Given the description of an element on the screen output the (x, y) to click on. 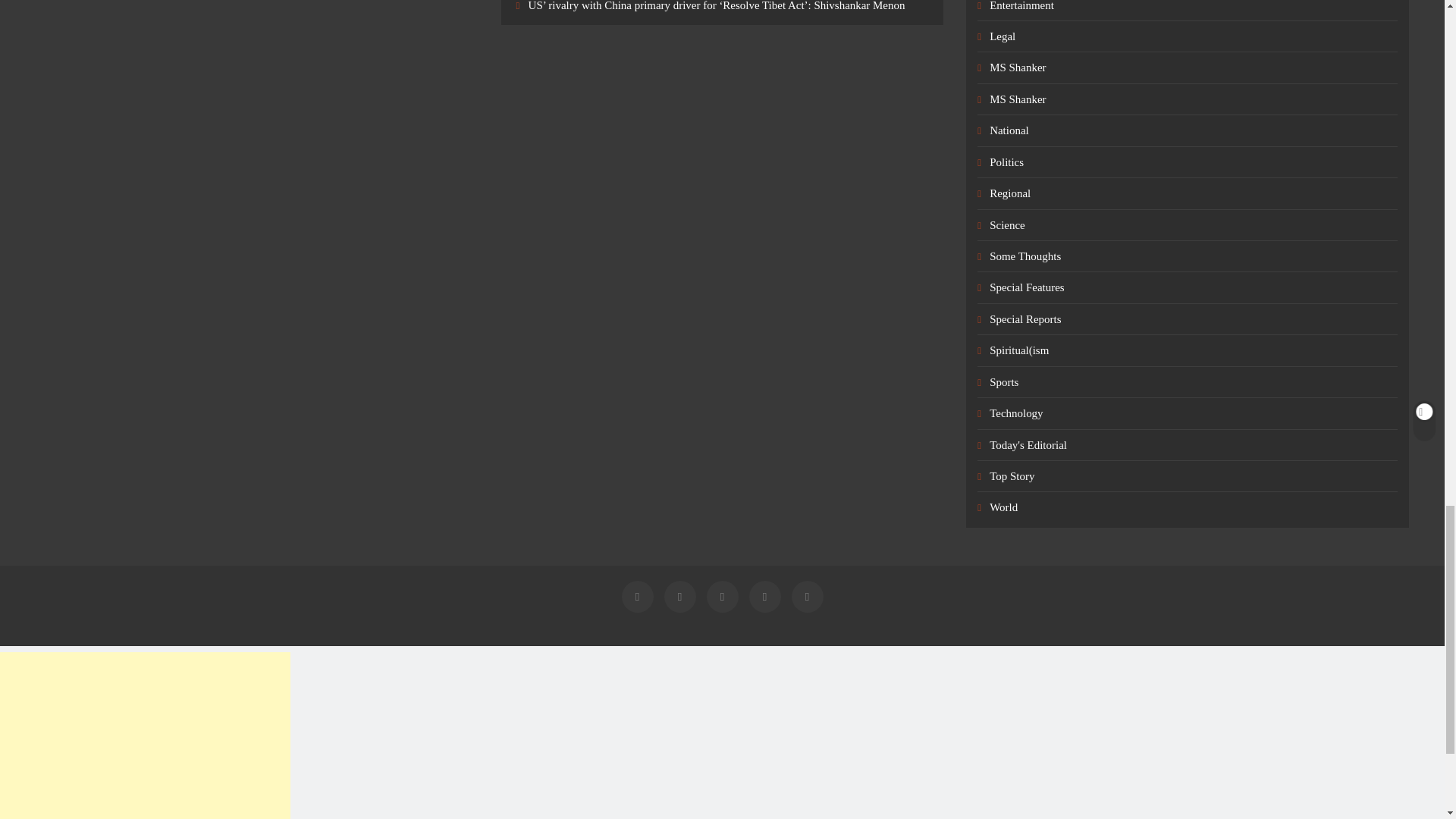
Advertisement (144, 735)
